Given the description of an element on the screen output the (x, y) to click on. 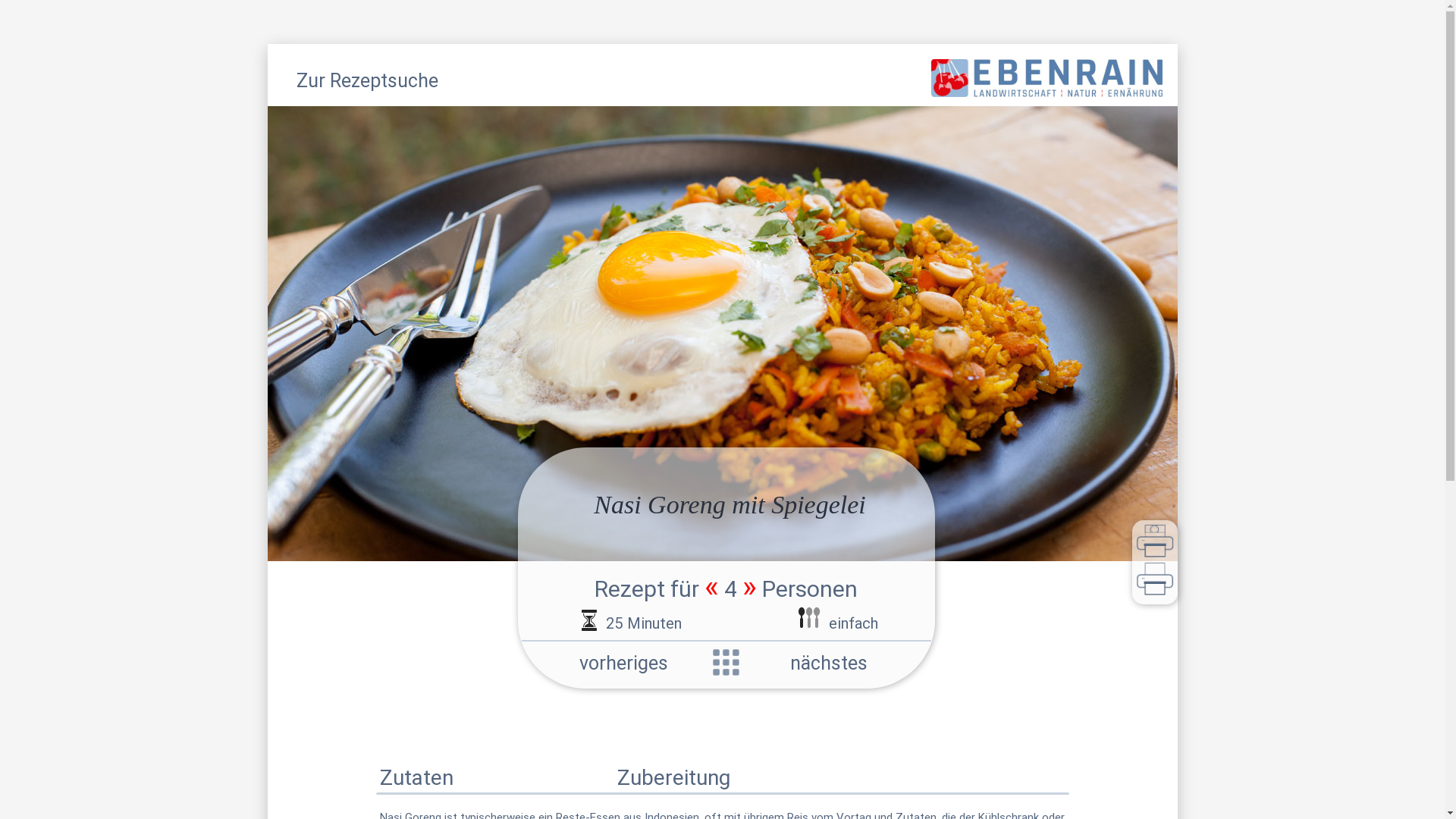
Zur Rezeptsuche Element type: text (366, 82)
